Given the description of an element on the screen output the (x, y) to click on. 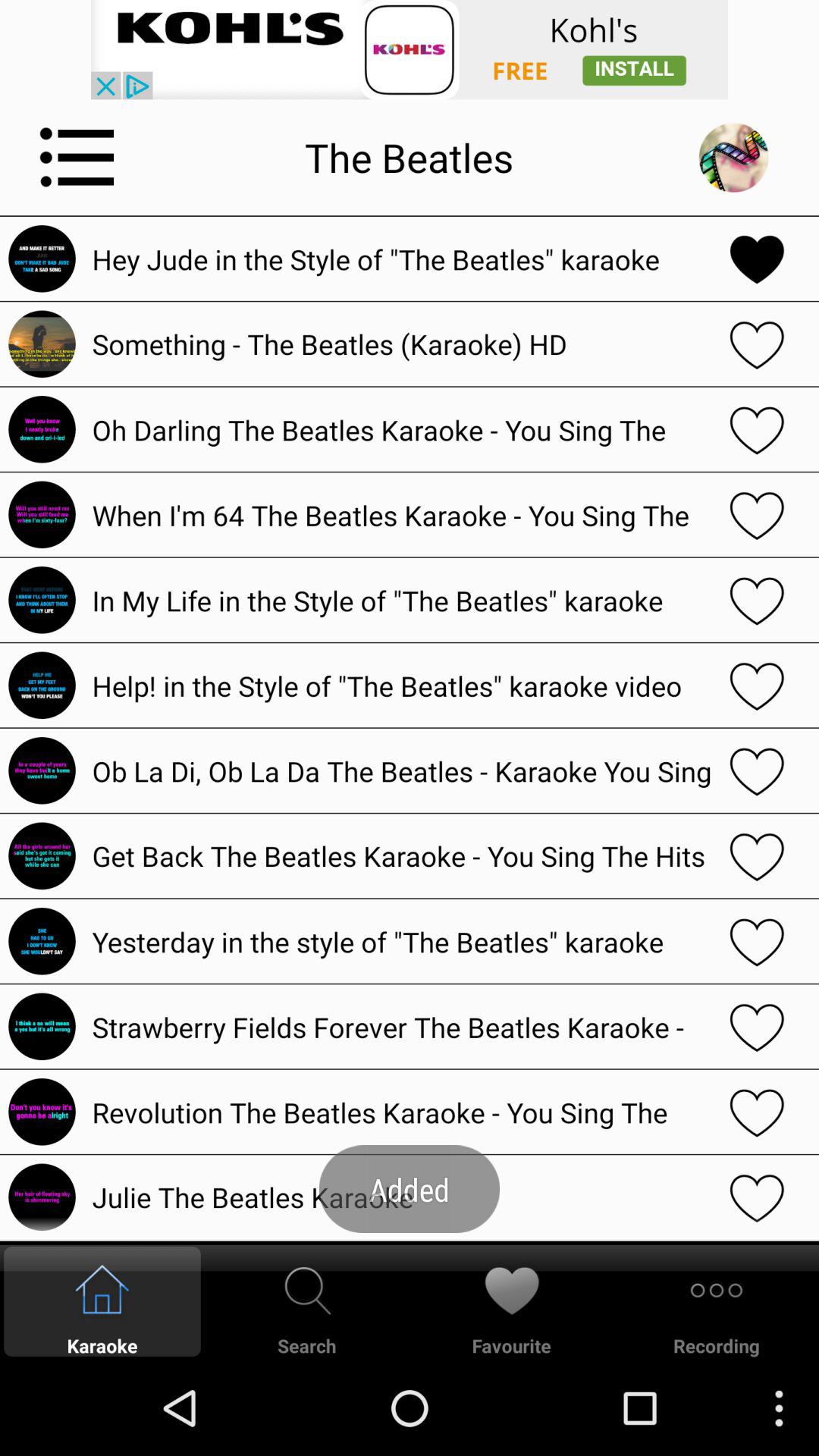
to add favorite (756, 343)
